Given the description of an element on the screen output the (x, y) to click on. 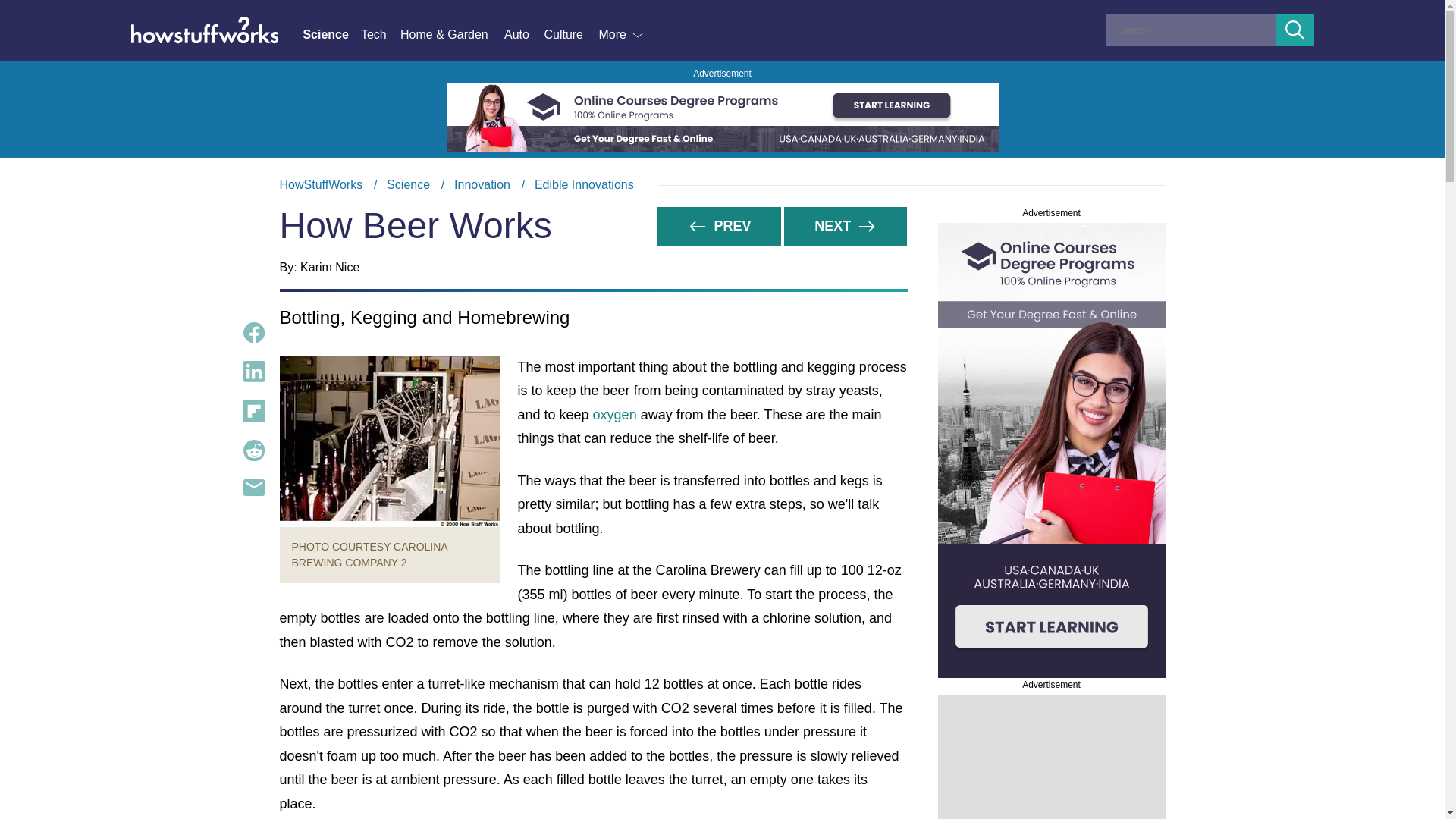
Share Content via Email (253, 487)
Share Content on Flipboard (253, 410)
Share Content on LinkedIn (253, 371)
Submit Search (1295, 29)
Culture (570, 34)
Share Content on Facebook (253, 332)
HowStuffWorks (320, 184)
Tech (380, 34)
Auto (523, 34)
More (621, 34)
